Given the description of an element on the screen output the (x, y) to click on. 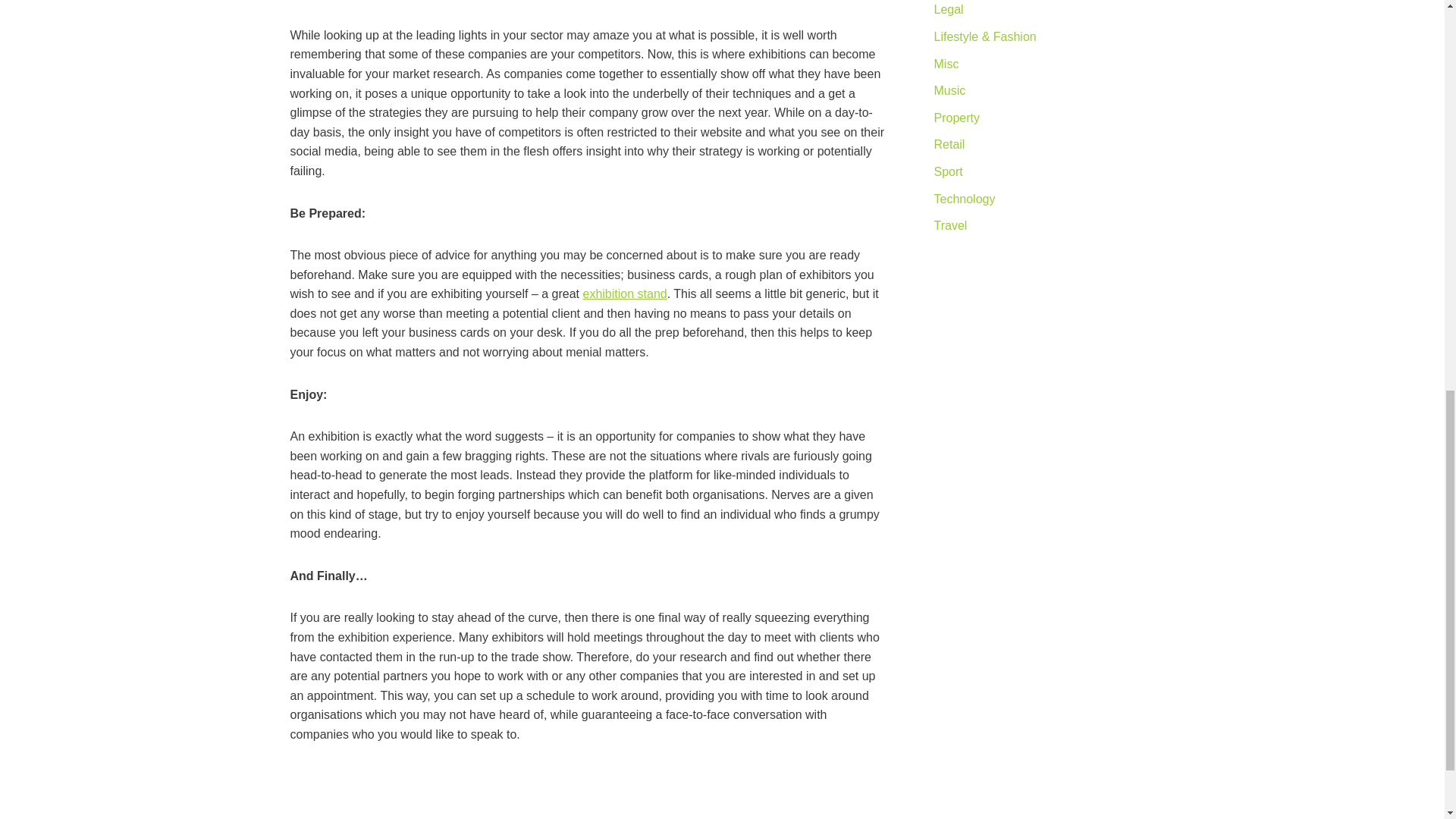
exhibition stand (624, 293)
